Given the description of an element on the screen output the (x, y) to click on. 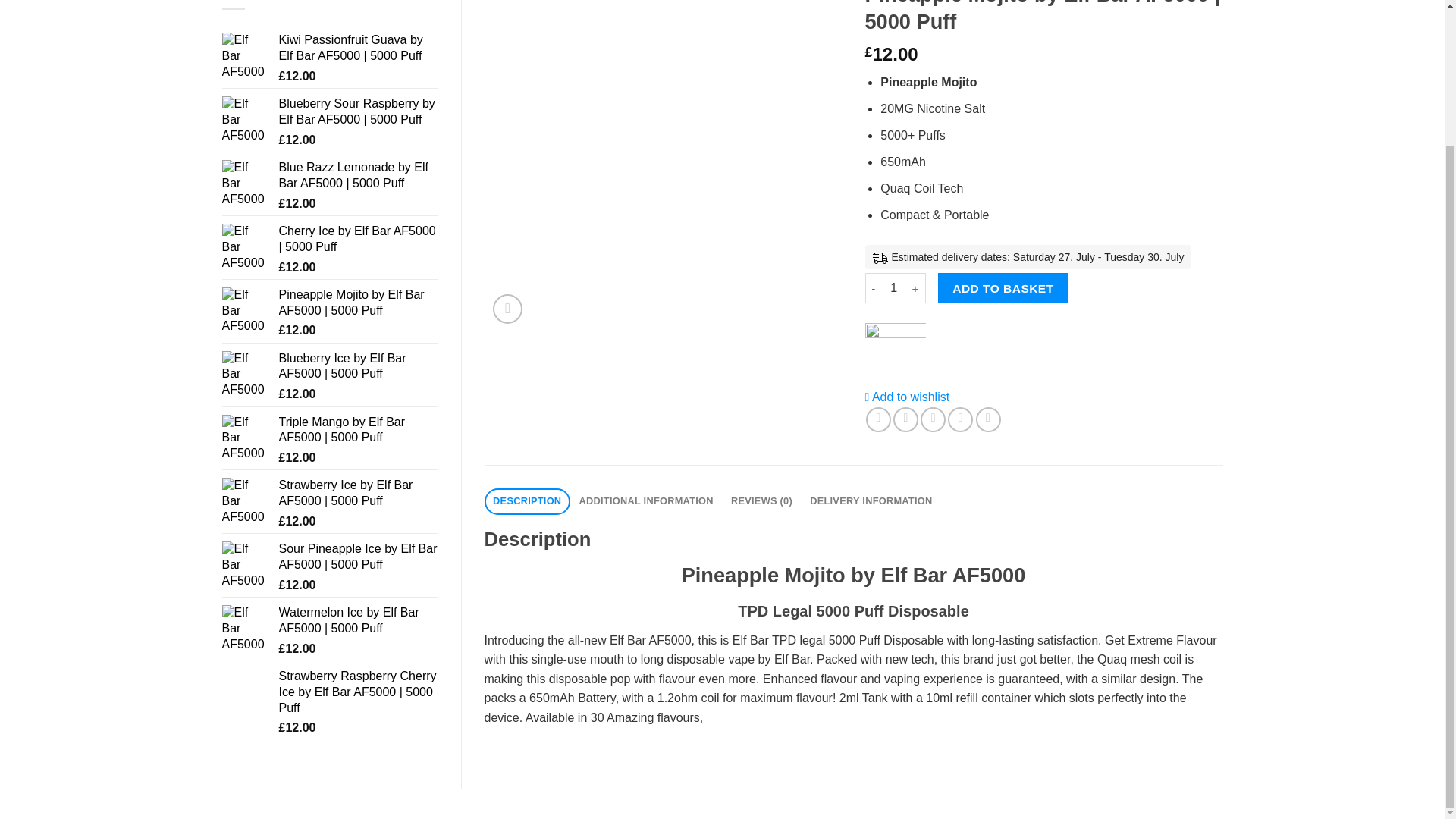
1 (893, 287)
- (872, 287)
